Given the description of an element on the screen output the (x, y) to click on. 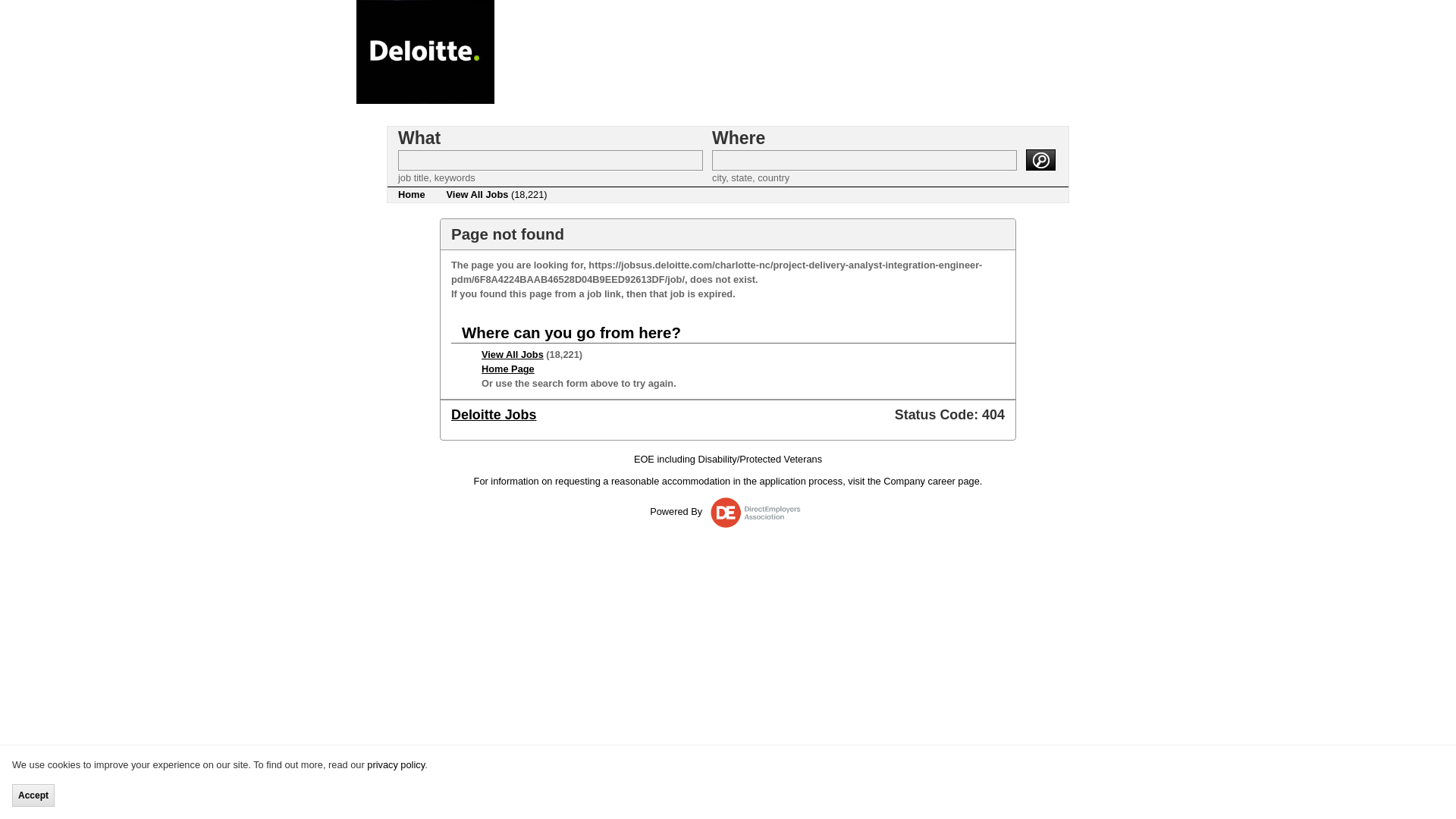
visit the Company career page (913, 480)
Home Page (507, 368)
View All Jobs (512, 354)
Search Phrase (550, 159)
search (1040, 158)
requesting a reasonable accommodation (642, 480)
Search Location (863, 159)
Deloitte Jobs (493, 414)
Home (411, 193)
Submit Search (1040, 158)
search (1040, 158)
